Given the description of an element on the screen output the (x, y) to click on. 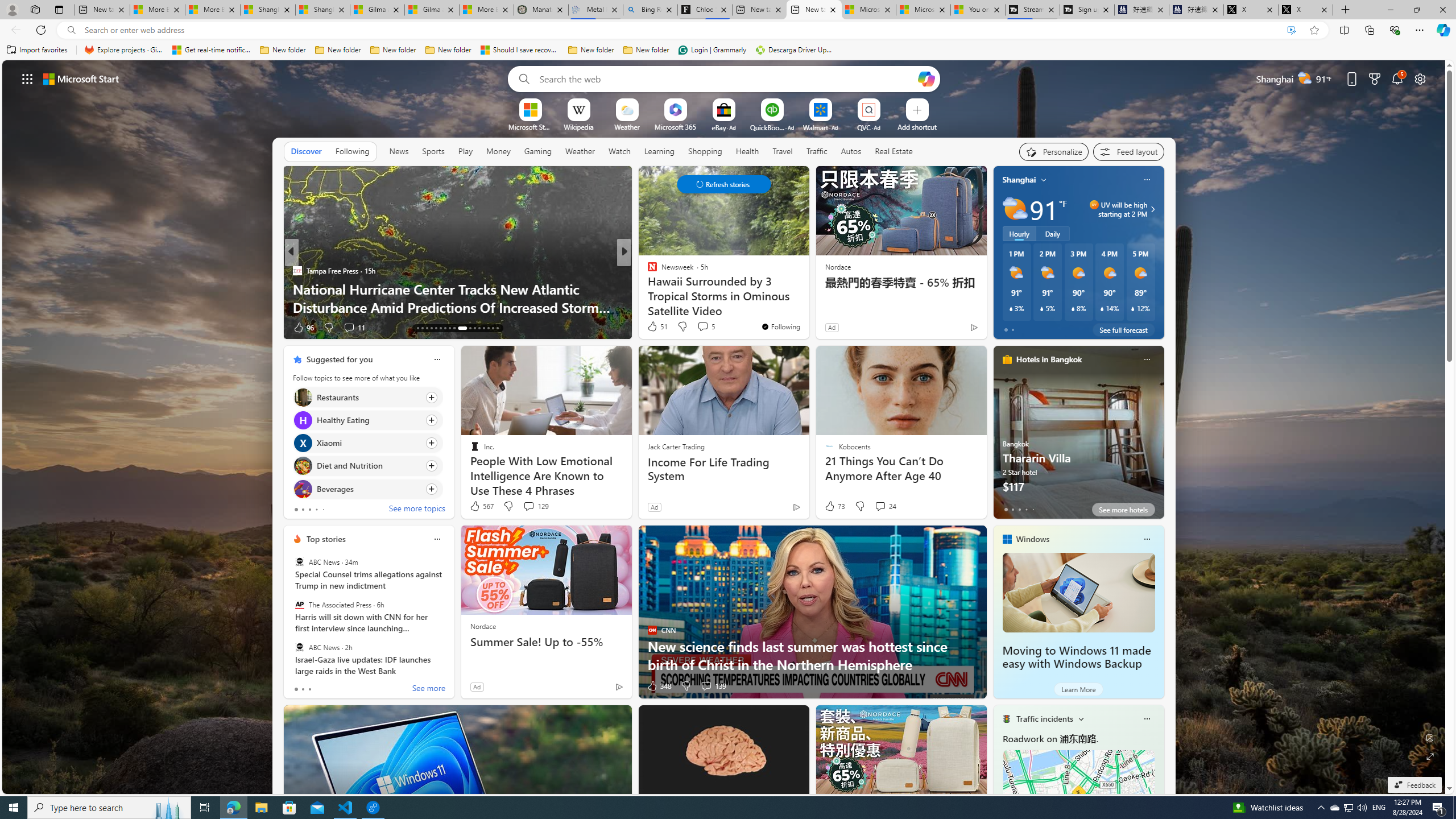
View comments 3 Comment (702, 327)
Diet and Nutrition (302, 466)
UV will be high starting at 2 PM (1150, 208)
Thararin Villa (1078, 436)
76 Like (652, 327)
Tampa Free Press (296, 270)
73 Like (834, 505)
AutomationID: tab-23 (444, 328)
Hotels in Bangkok (1048, 359)
